Given the description of an element on the screen output the (x, y) to click on. 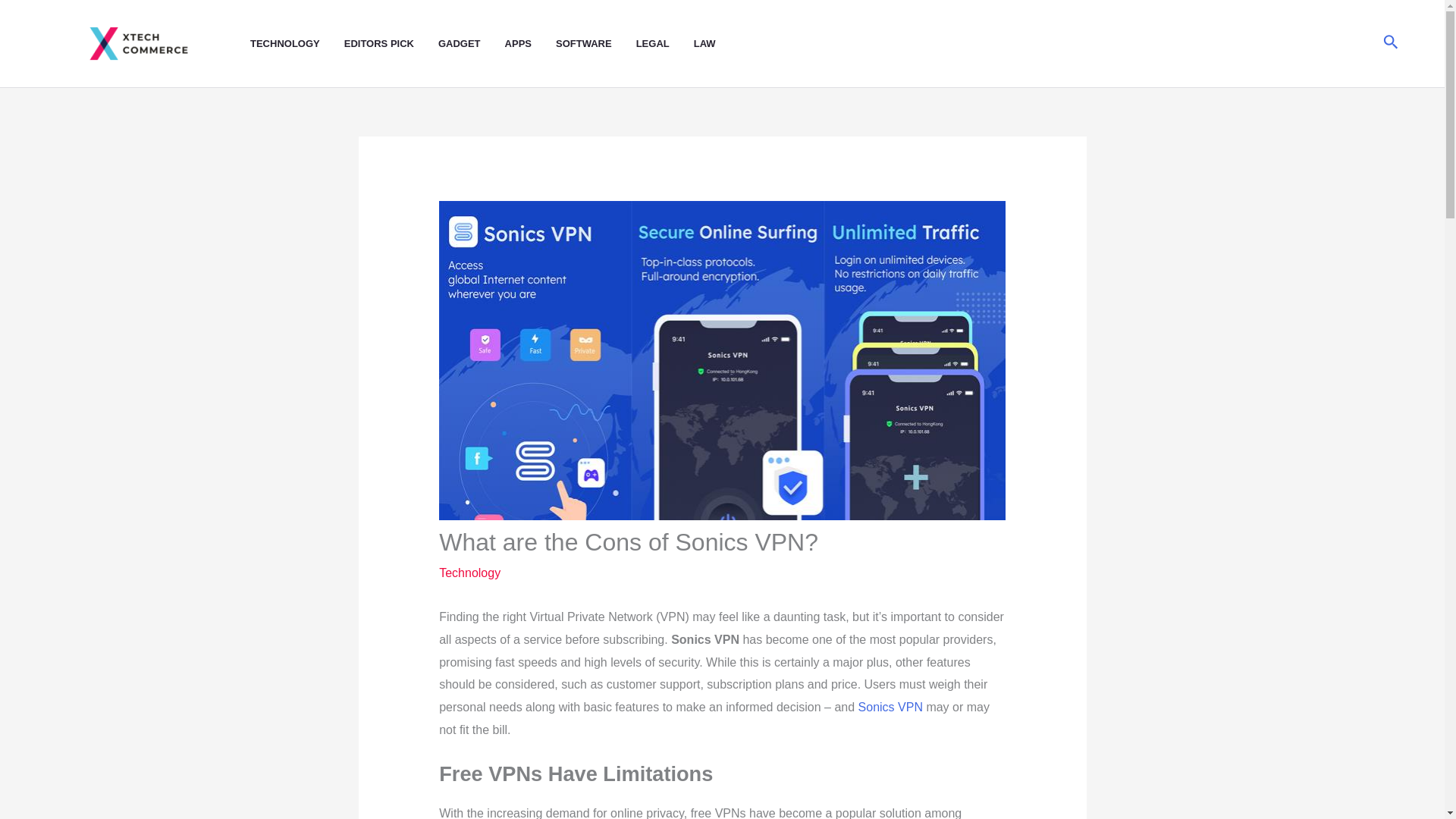
Sonics VPN (891, 707)
TECHNOLOGY (296, 43)
EDITORS PICK (390, 43)
Technology (469, 572)
SOFTWARE (596, 43)
